Given the description of an element on the screen output the (x, y) to click on. 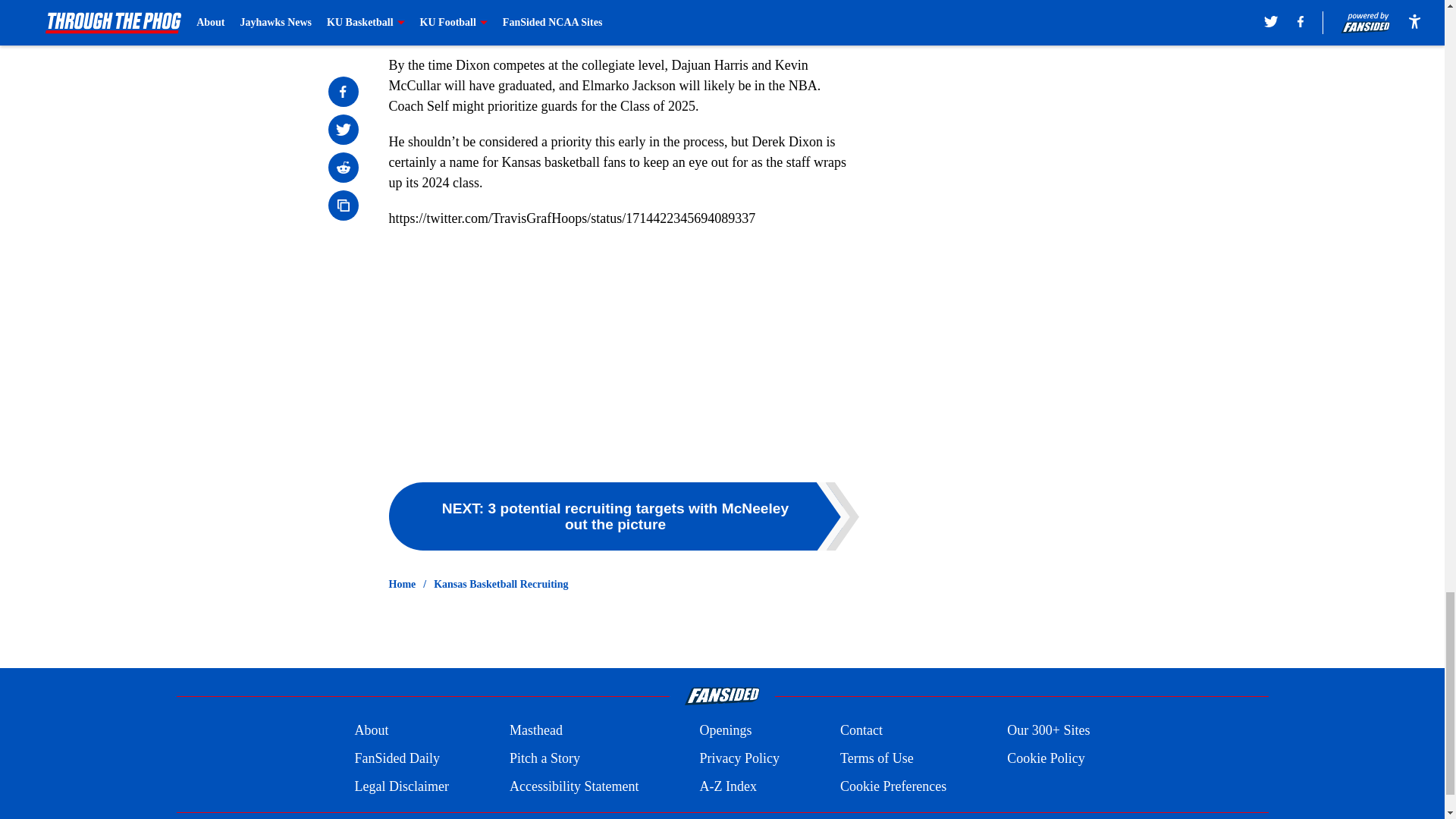
Contact (861, 730)
FanSided Daily (396, 758)
Masthead (535, 730)
Pitch a Story (544, 758)
Home (401, 584)
About (370, 730)
Openings (724, 730)
Kansas Basketball Recruiting (500, 584)
